Given the description of an element on the screen output the (x, y) to click on. 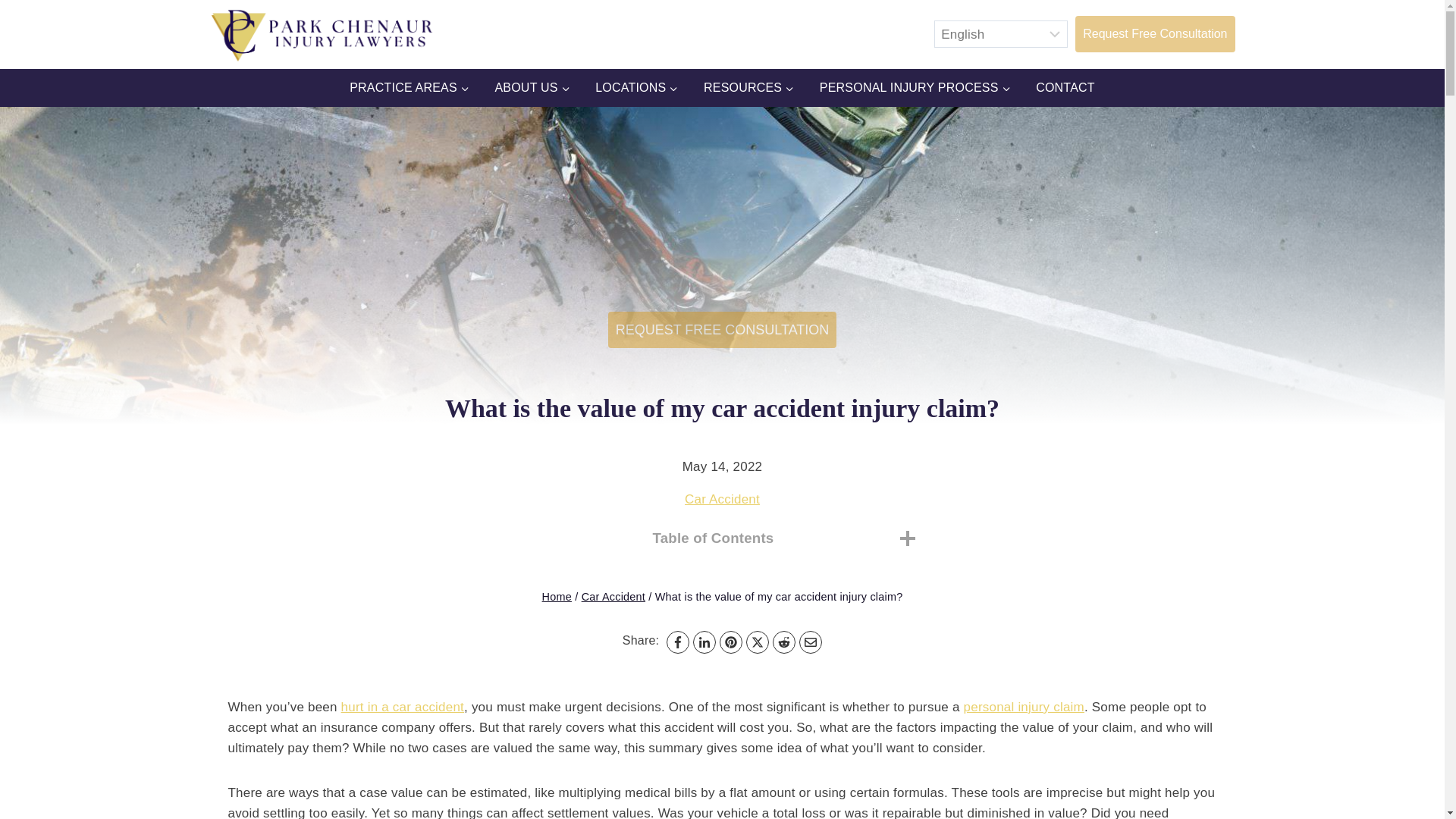
Request Free Consultation (1154, 33)
LOCATIONS (636, 87)
PRACTICE AREAS (408, 87)
ABOUT US (532, 87)
